Given the description of an element on the screen output the (x, y) to click on. 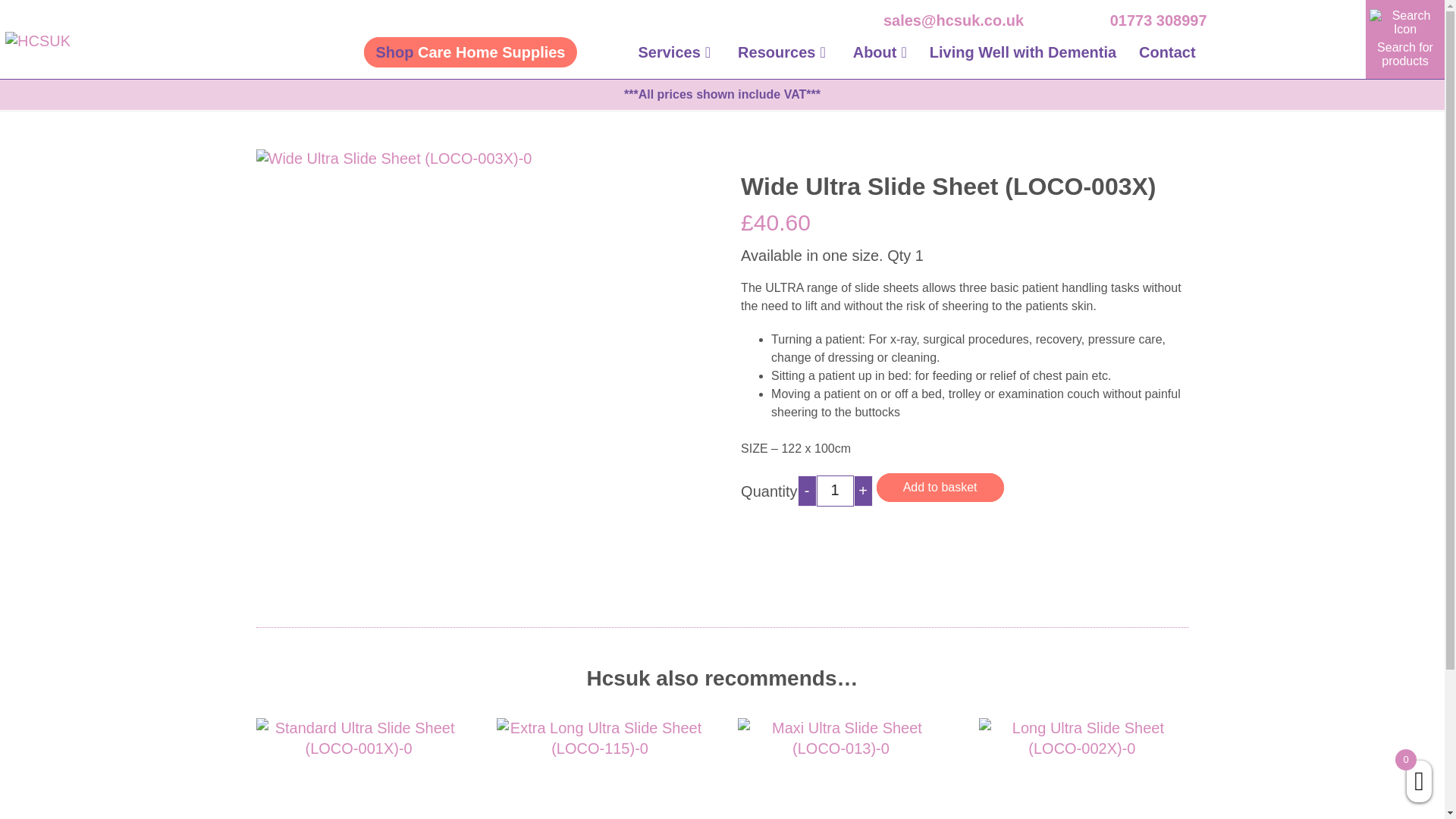
Go to the Hcsuk Catalogue Category archives. (157, 102)
Go to the Nursing Equipment Category archives. (239, 102)
1 (834, 490)
Qty (834, 490)
Go to the Slide Sheets Category archives. (477, 102)
01773 308997 (1158, 20)
Shop Care Home Supplies (470, 51)
Go to HCSUK. (55, 102)
Go to Products. (95, 102)
